Given the description of an element on the screen output the (x, y) to click on. 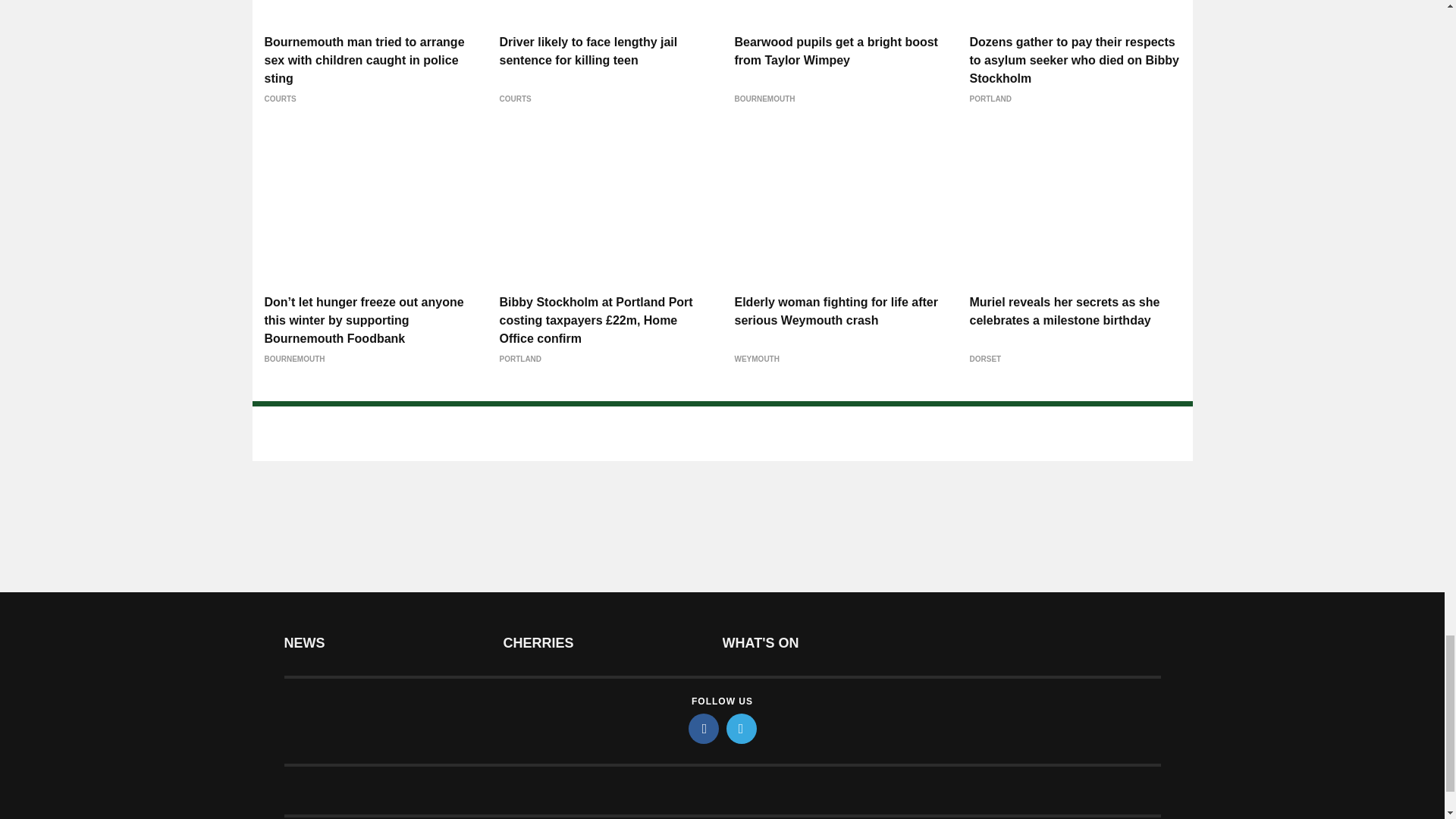
facebook (703, 728)
twitter (741, 728)
